Given the description of an element on the screen output the (x, y) to click on. 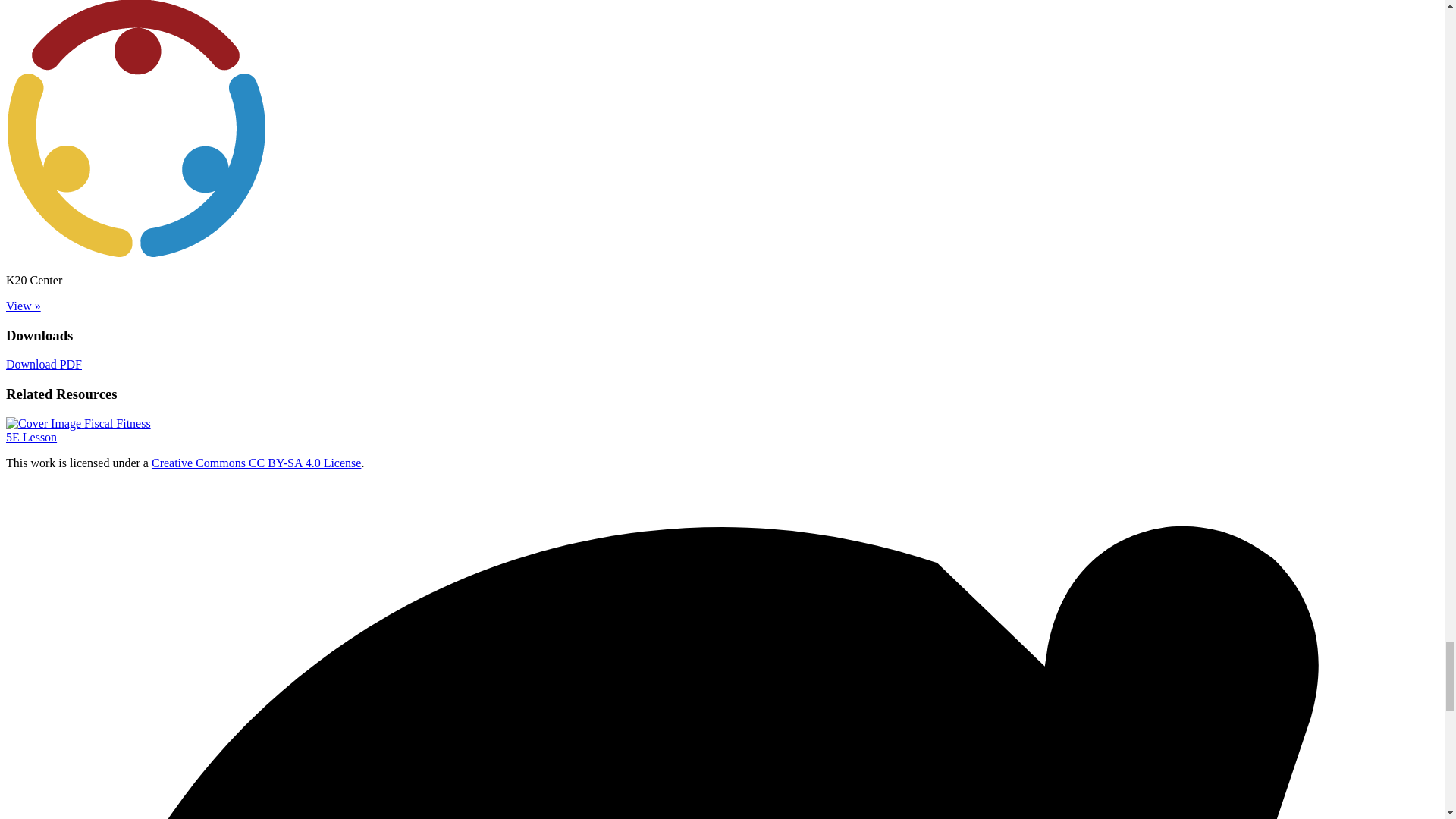
Creative Commons CC BY-SA 4.0 License (78, 429)
Download PDF (256, 462)
